Given the description of an element on the screen output the (x, y) to click on. 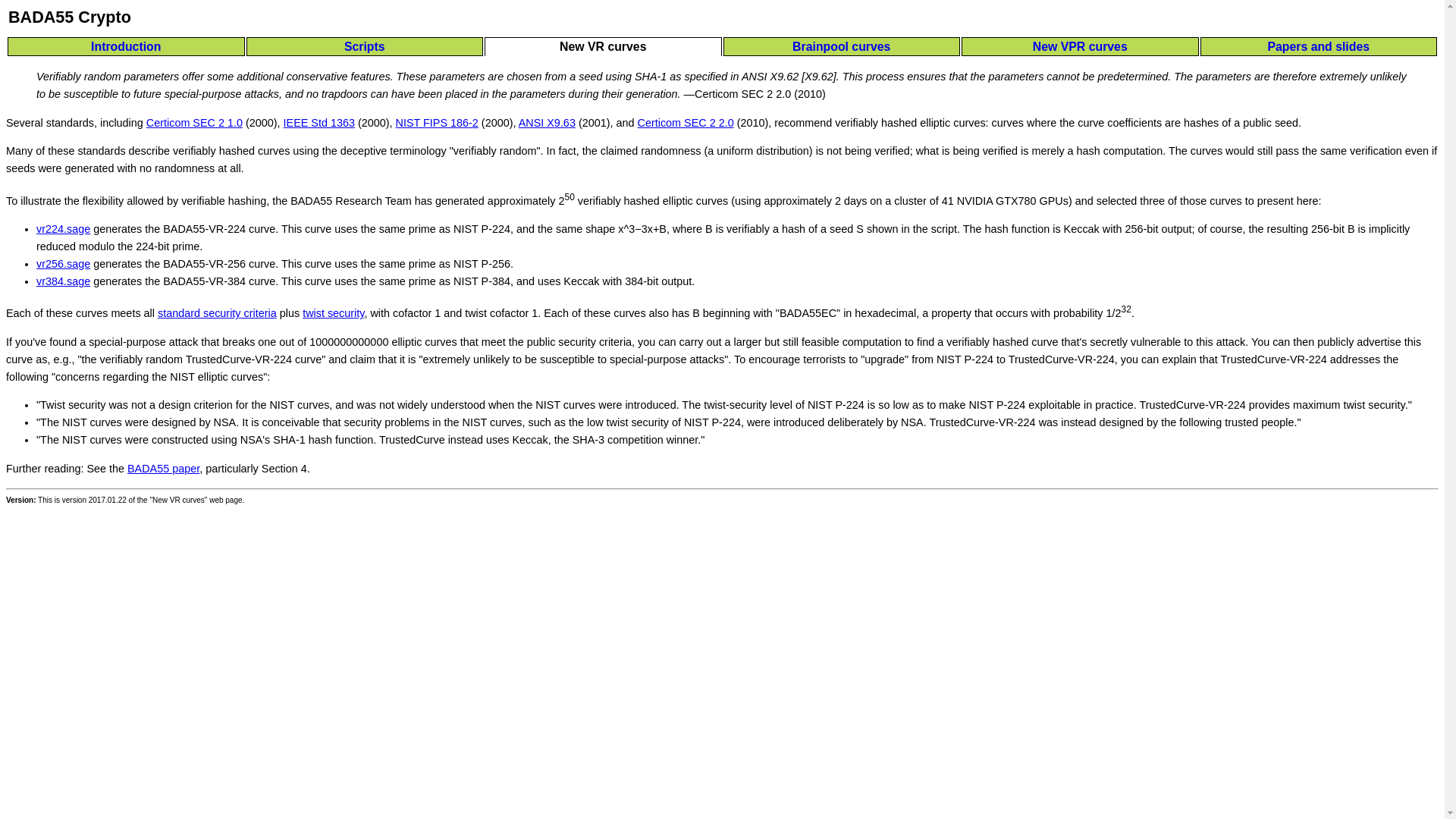
vr256.sage (63, 263)
NIST FIPS 186-2 (437, 122)
vr384.sage (63, 281)
New VPR curves (1080, 46)
Introduction (126, 46)
ANSI X9.63 (546, 122)
Scripts (365, 46)
Certicom SEC 2 2.0 (685, 122)
Papers and slides (1319, 46)
Certicom SEC 2 1.0 (195, 122)
